Given the description of an element on the screen output the (x, y) to click on. 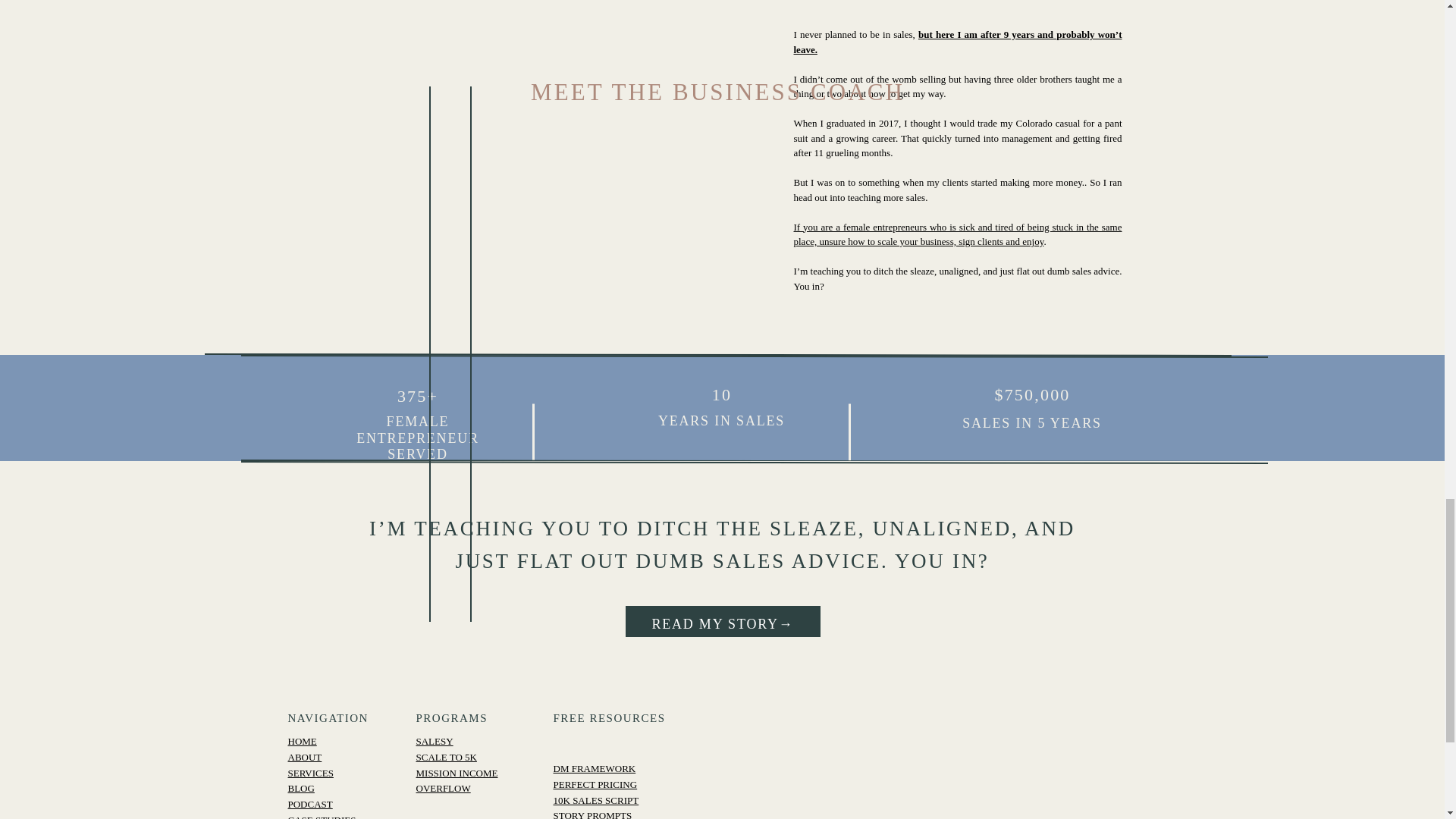
CASE STUDIES (322, 816)
DM FRAMEWORK (594, 767)
SERVICES (310, 772)
ABOUT (304, 756)
BLOG (301, 787)
PERFECT PRICING (595, 784)
PODCAST (310, 803)
OVERFLOW (442, 787)
HOME (302, 740)
SALESY (433, 740)
